Given the description of an element on the screen output the (x, y) to click on. 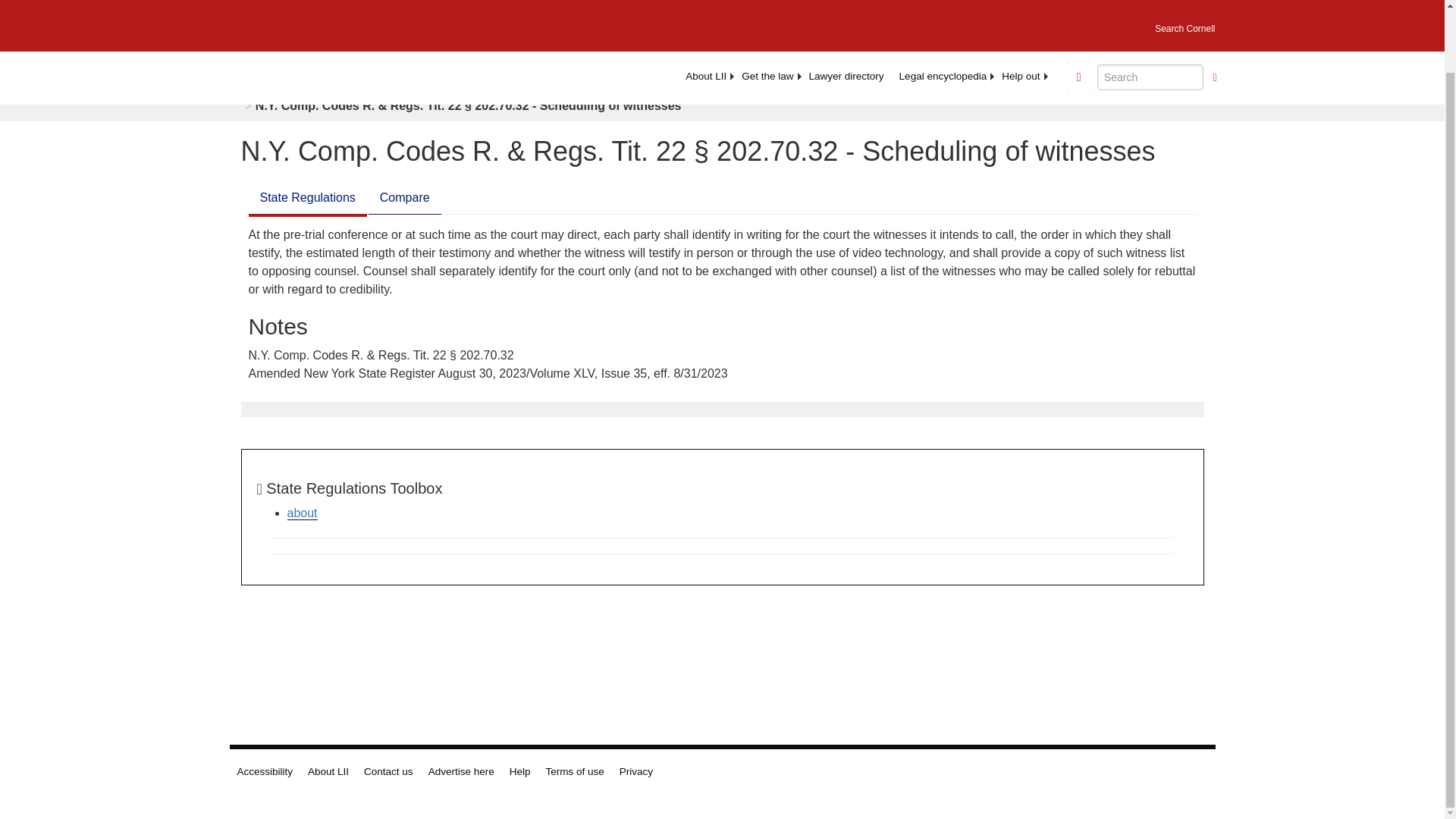
Legal encyclopedia (942, 7)
Lawyer directory (846, 7)
Get the law (766, 7)
About LII (705, 7)
